Given the description of an element on the screen output the (x, y) to click on. 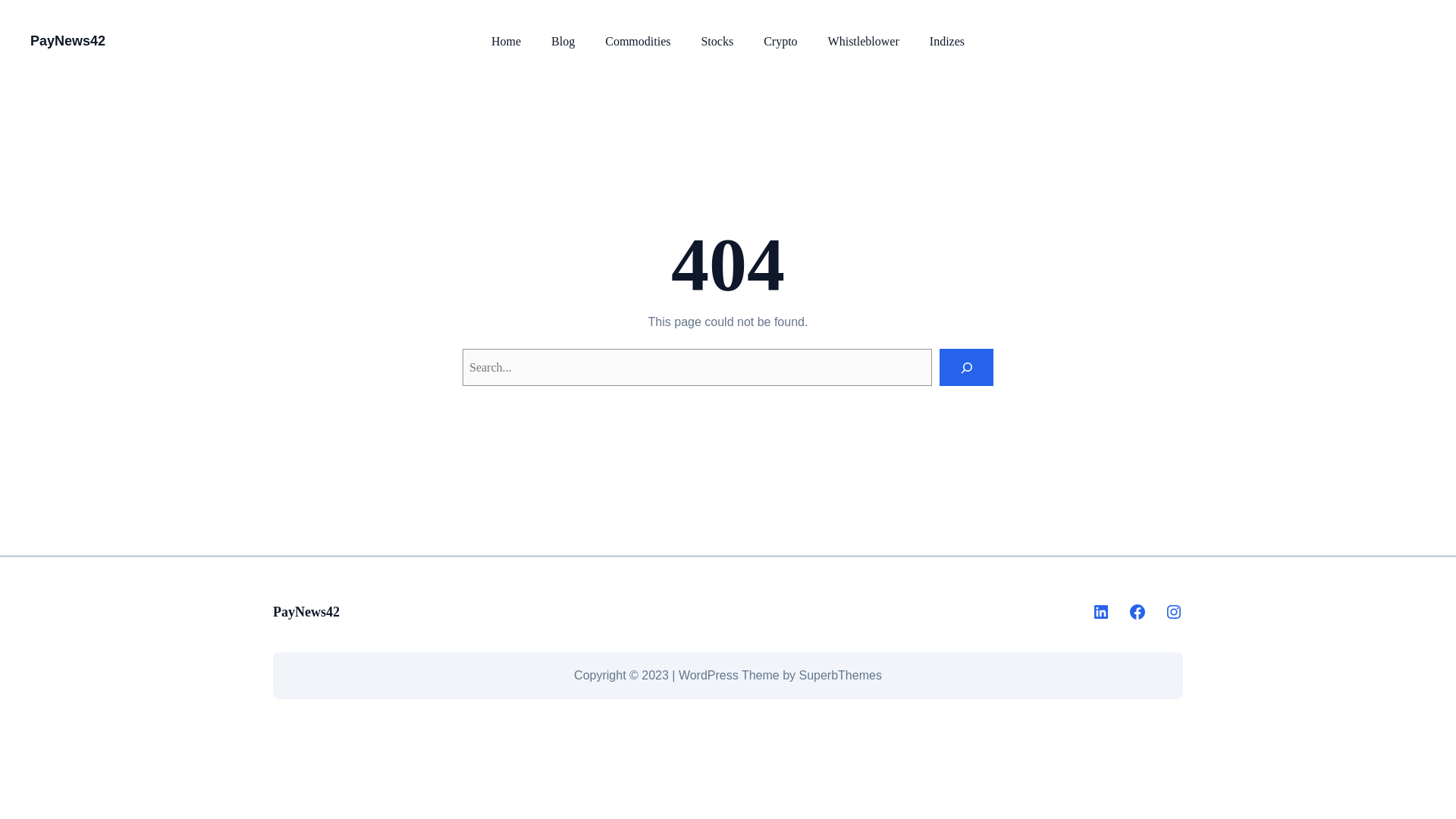
LinkedIn (1100, 611)
Home (506, 41)
Facebook (1137, 611)
PayNews42 (67, 40)
Commodities (637, 41)
Stocks (716, 41)
Instagram (1173, 611)
PayNews42 (306, 611)
Blog (563, 41)
Crypto (779, 41)
